Given the description of an element on the screen output the (x, y) to click on. 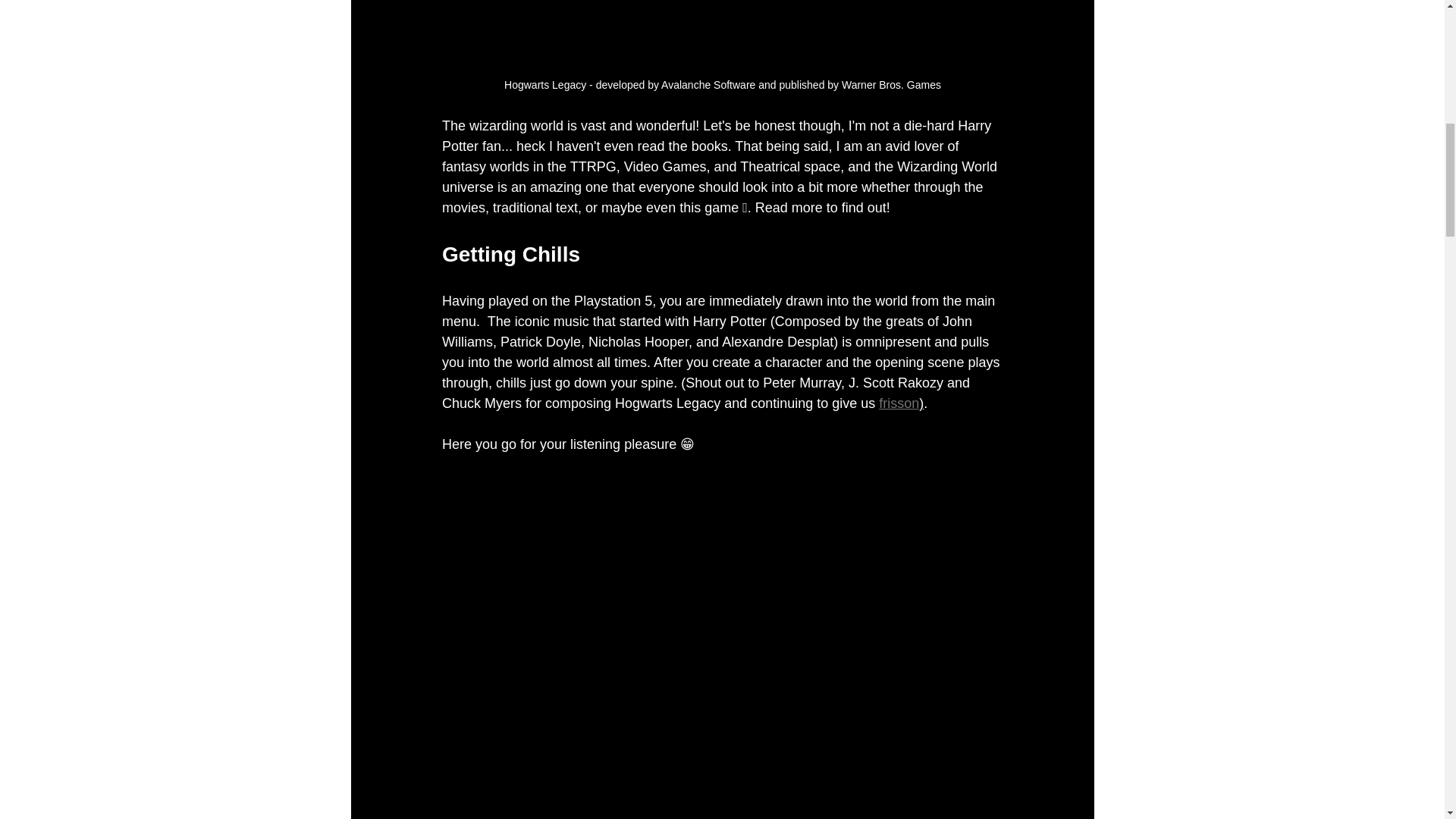
frisson (898, 403)
